Given the description of an element on the screen output the (x, y) to click on. 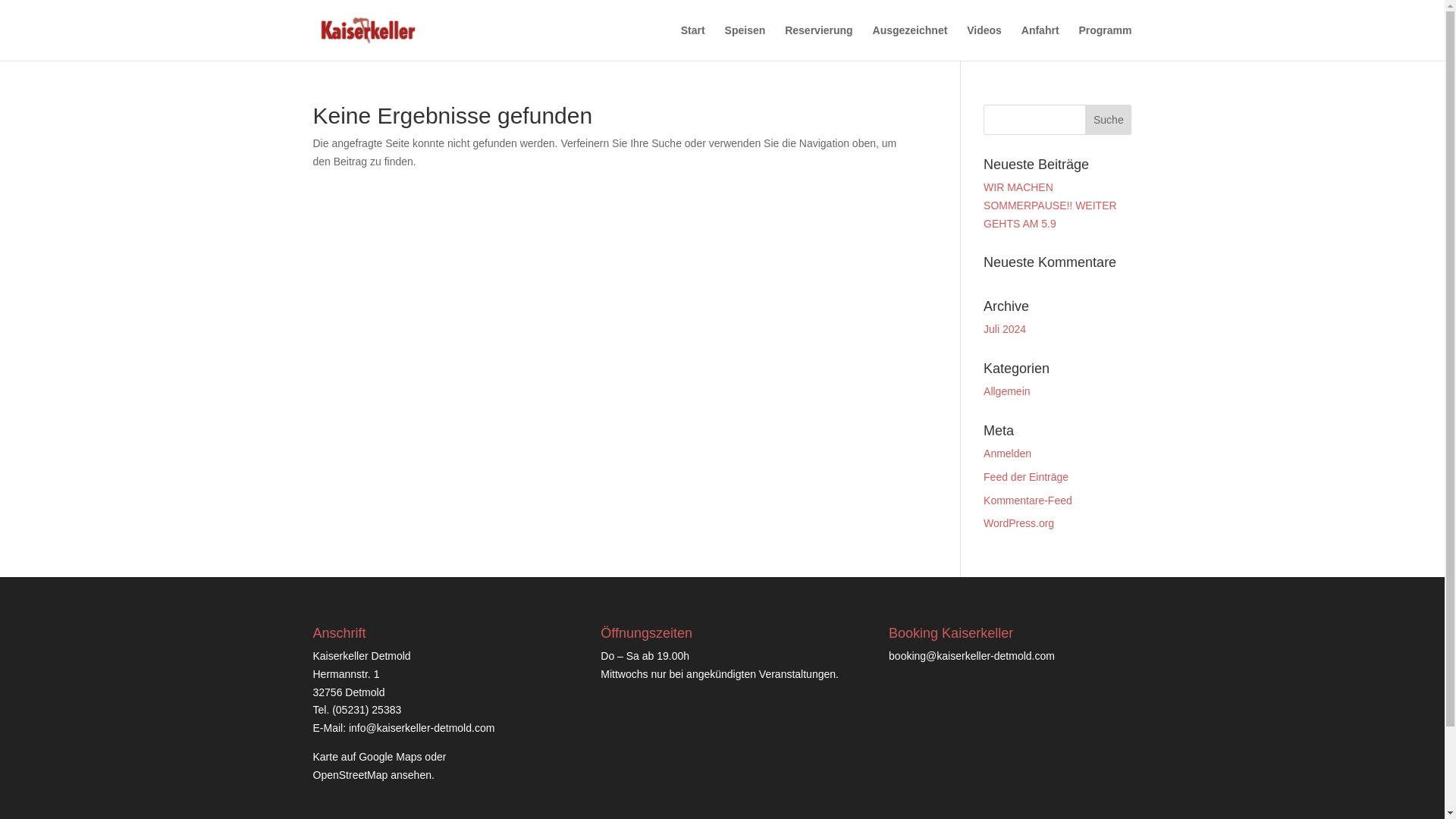
WordPress.org (1019, 522)
Google Maps (390, 756)
Kommentare-Feed (1027, 500)
Allgemein (1006, 390)
Suche (1107, 119)
Reservierung (817, 42)
Videos (983, 42)
WIR MACHEN SOMMERPAUSE!! WEITER GEHTS AM 5.9 (1050, 205)
OpenStreetMap (350, 775)
Ausgezeichnet (909, 42)
Juli 2024 (1005, 328)
Anfahrt (1040, 42)
Suche (1107, 119)
Programm (1104, 42)
Speisen (745, 42)
